Given the description of an element on the screen output the (x, y) to click on. 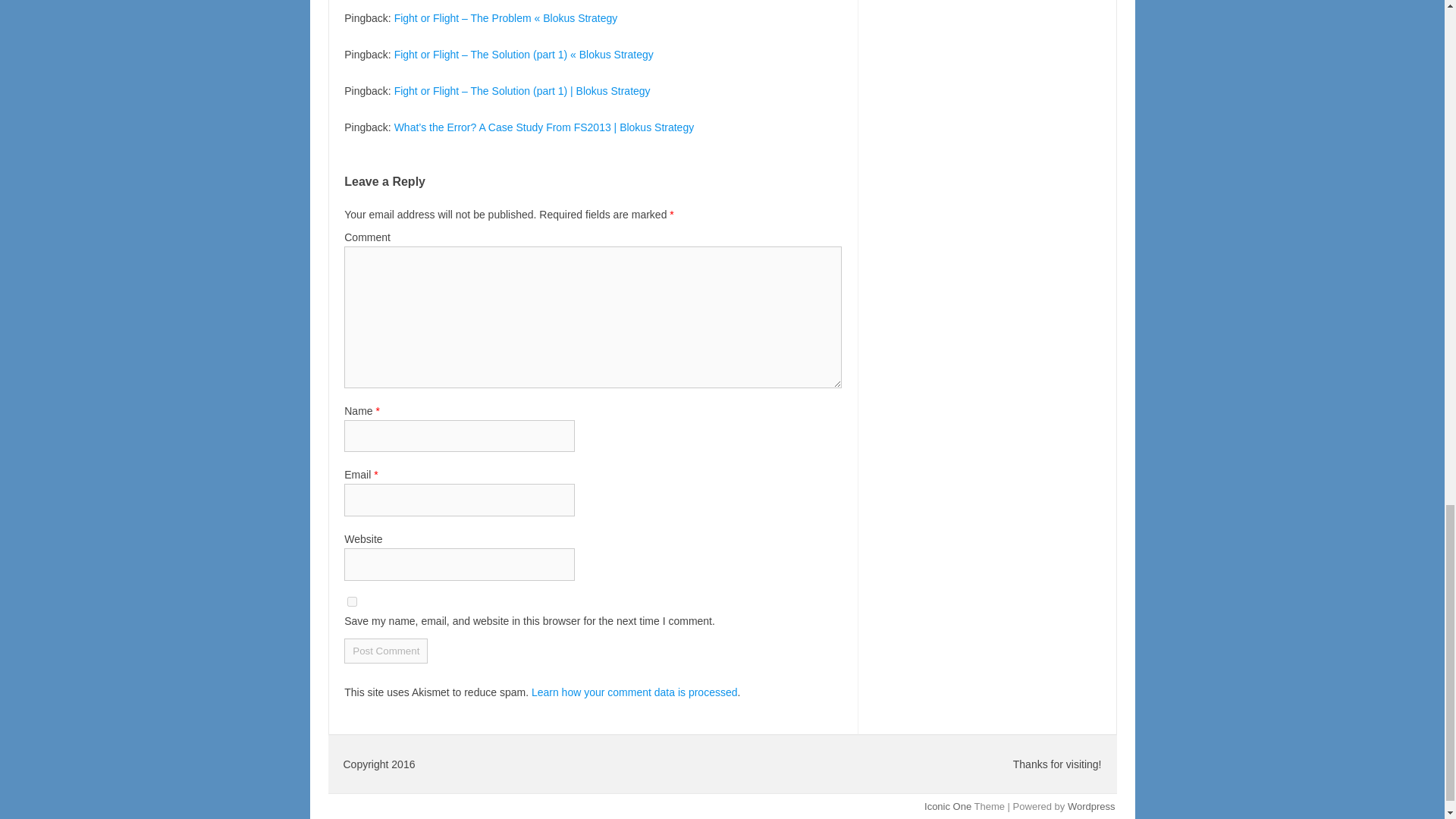
Iconic One (947, 806)
Post Comment (385, 650)
Post Comment (385, 650)
yes (351, 601)
Learn how your comment data is processed (634, 692)
